Given the description of an element on the screen output the (x, y) to click on. 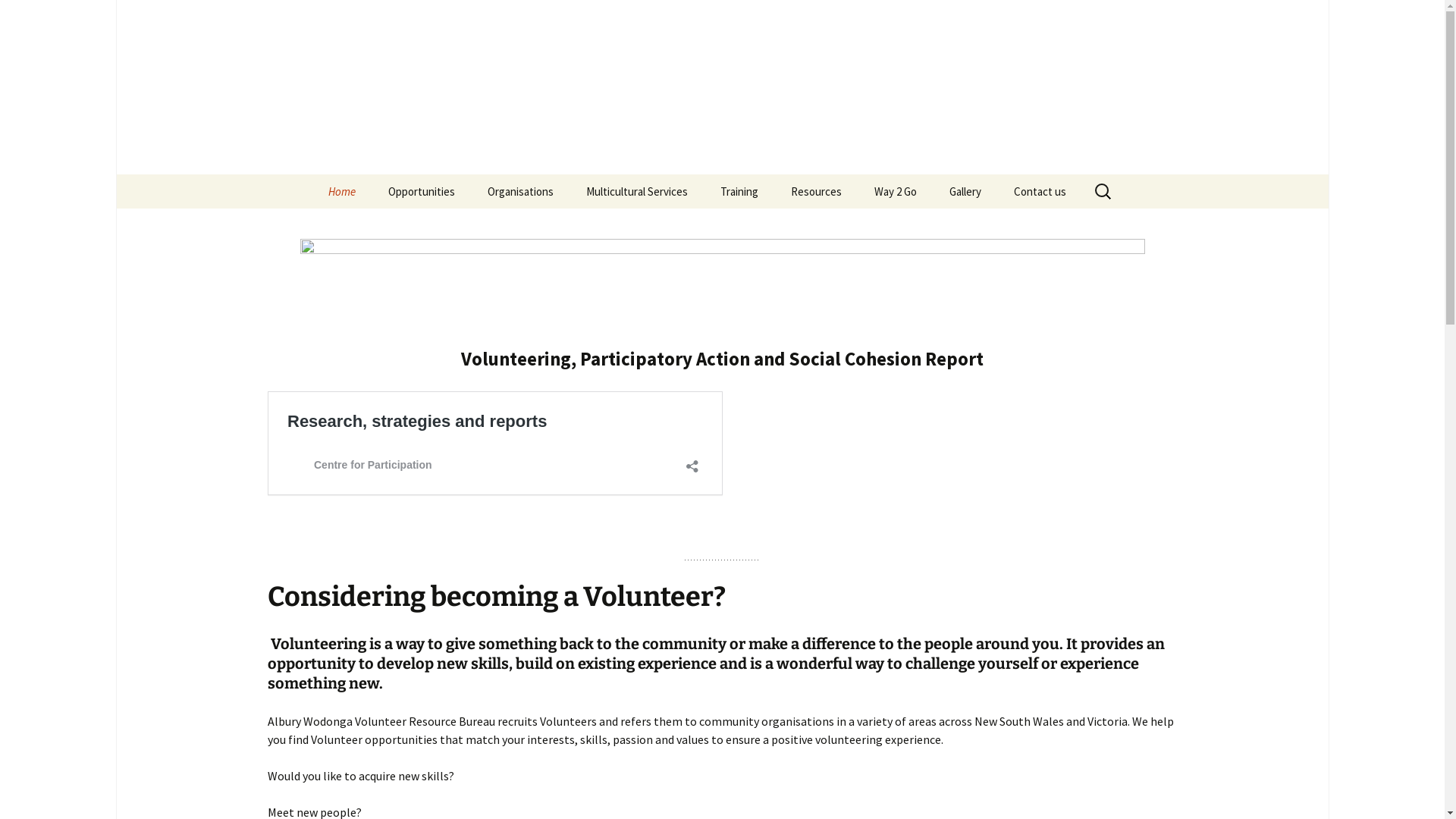
Opportunities Element type: text (421, 191)
Members Element type: text (547, 225)
Way 2 Go Element type: text (894, 191)
Resources Element type: text (815, 191)
Training Element type: text (739, 191)
Contact us Element type: text (1038, 191)
Multicultural Services Element type: text (636, 191)
Organisations Element type: text (519, 191)
Gallery Element type: text (965, 191)
One Off Event roles Element type: text (448, 225)
Home Element type: text (341, 191)
Training For Organisations Element type: text (780, 231)
VRB Element type: text (721, 87)
CALD Services Guide Element type: text (850, 225)
Search Element type: text (18, 16)
About us Element type: text (388, 225)
